Given the description of an element on the screen output the (x, y) to click on. 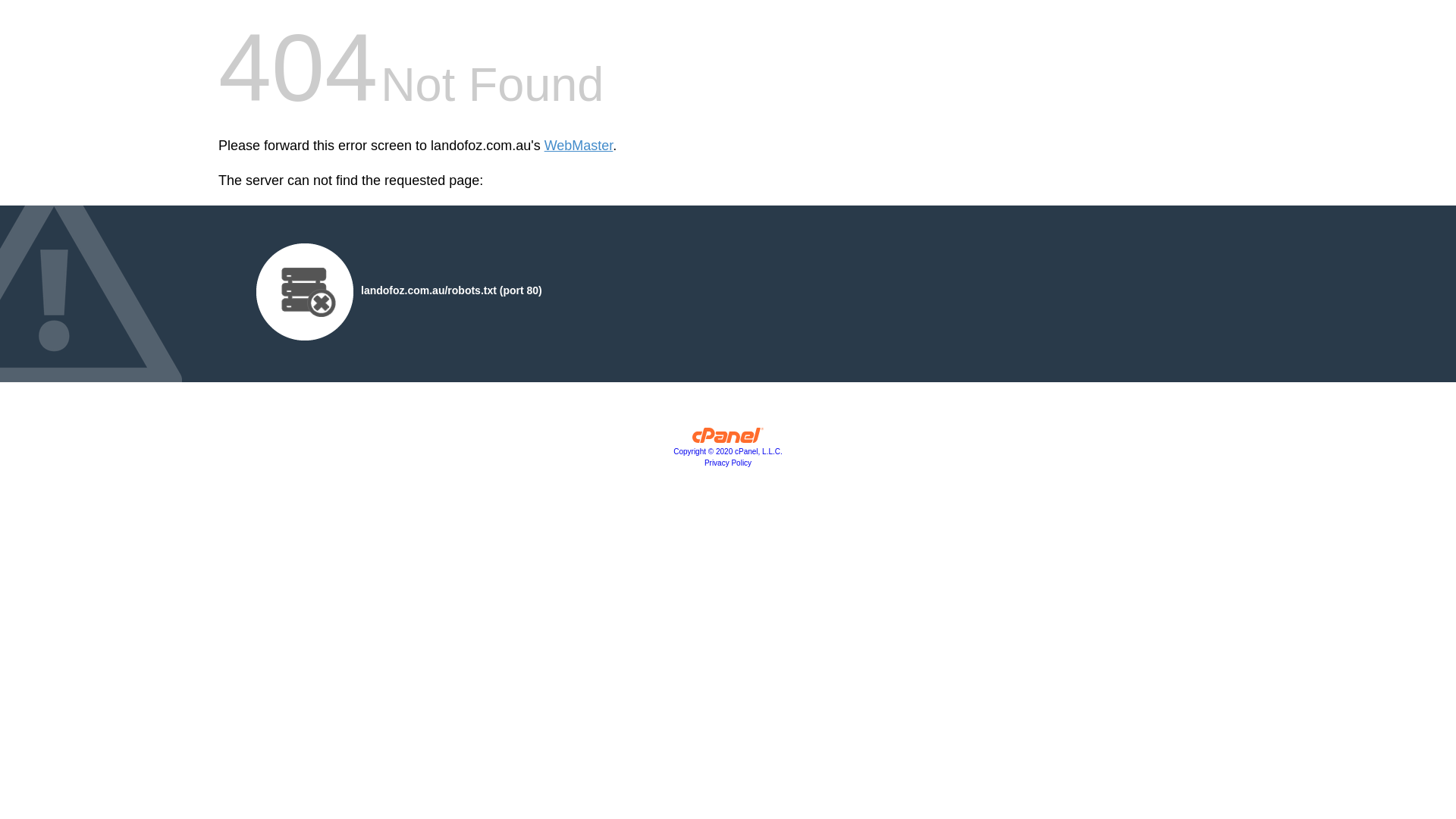
cPanel, Inc. Element type: hover (728, 439)
Privacy Policy Element type: text (727, 462)
WebMaster Element type: text (578, 145)
